Given the description of an element on the screen output the (x, y) to click on. 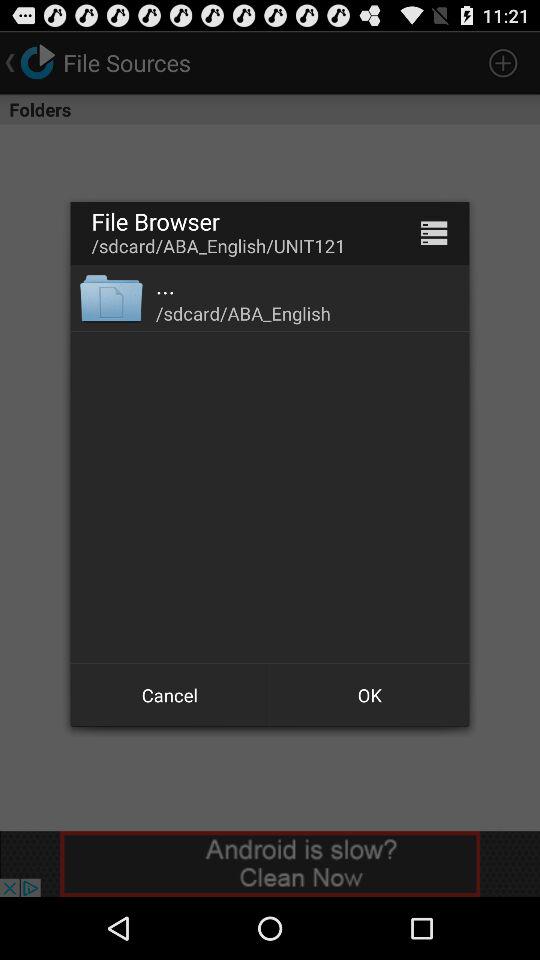
tap item at the top right corner (433, 232)
